Given the description of an element on the screen output the (x, y) to click on. 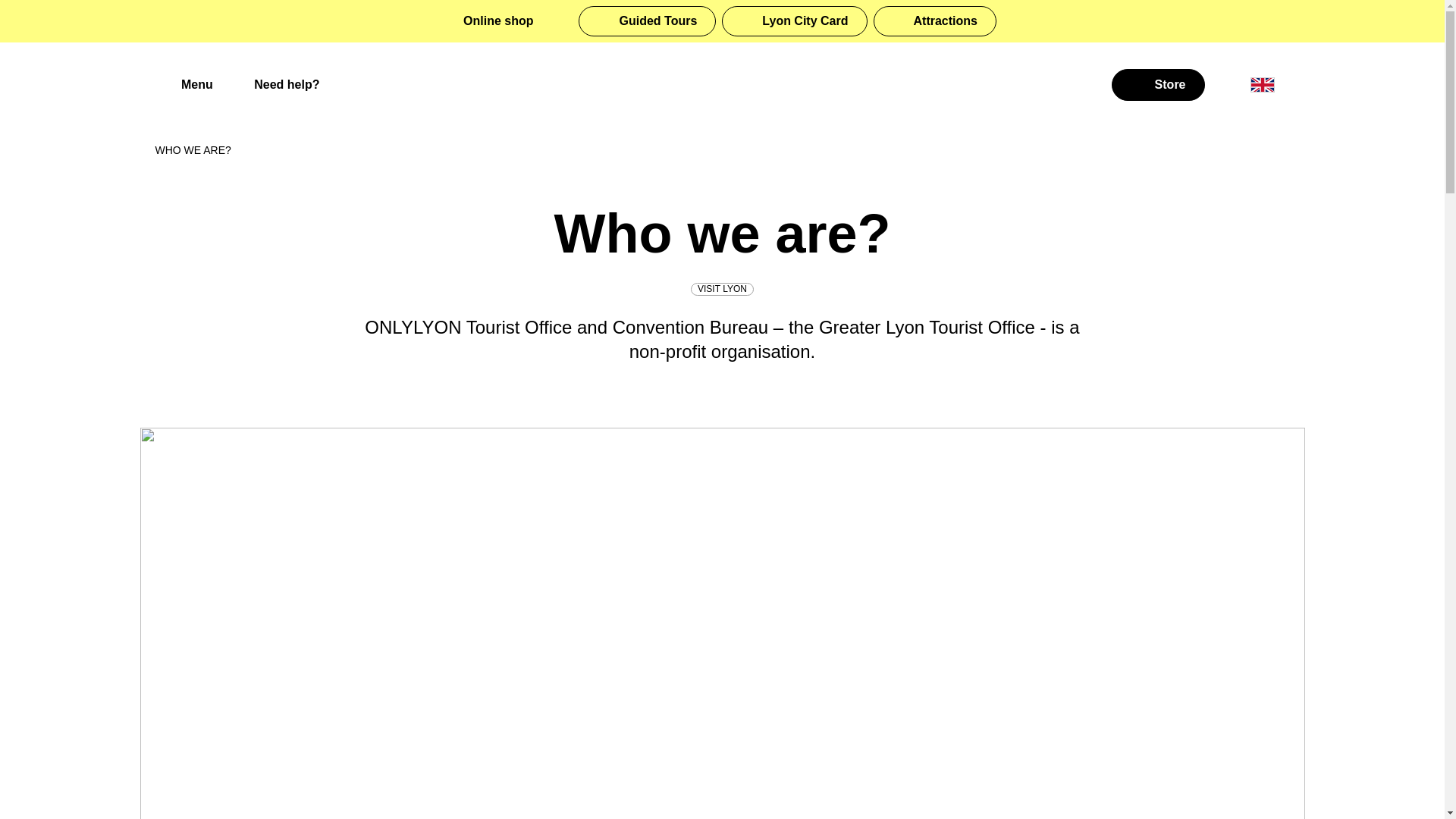
Online shop (497, 21)
Attractions (934, 20)
Store (1158, 84)
Guided Tours (647, 20)
Home (721, 85)
Need help? (274, 85)
Menu (183, 85)
Lyon City Card (794, 20)
